Given the description of an element on the screen output the (x, y) to click on. 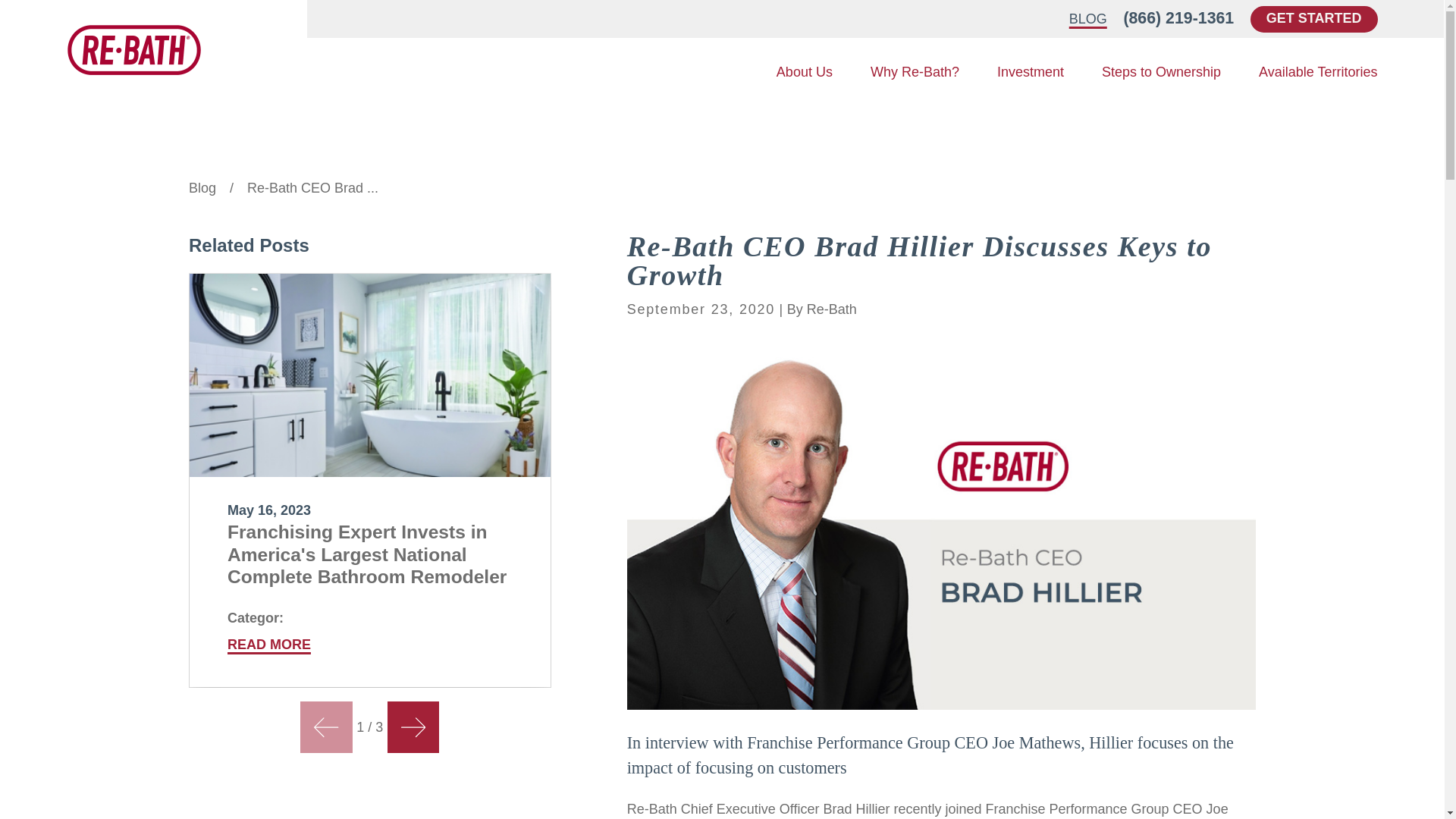
Go Home (202, 187)
Steps to Ownership (1161, 72)
Home (133, 50)
About Us (804, 72)
Investment (1030, 72)
Available Territories (1318, 72)
View previous item (325, 726)
BLOG (1087, 18)
GET STARTED (1313, 18)
Why Re-Bath? (914, 72)
View next item (413, 726)
